Given the description of an element on the screen output the (x, y) to click on. 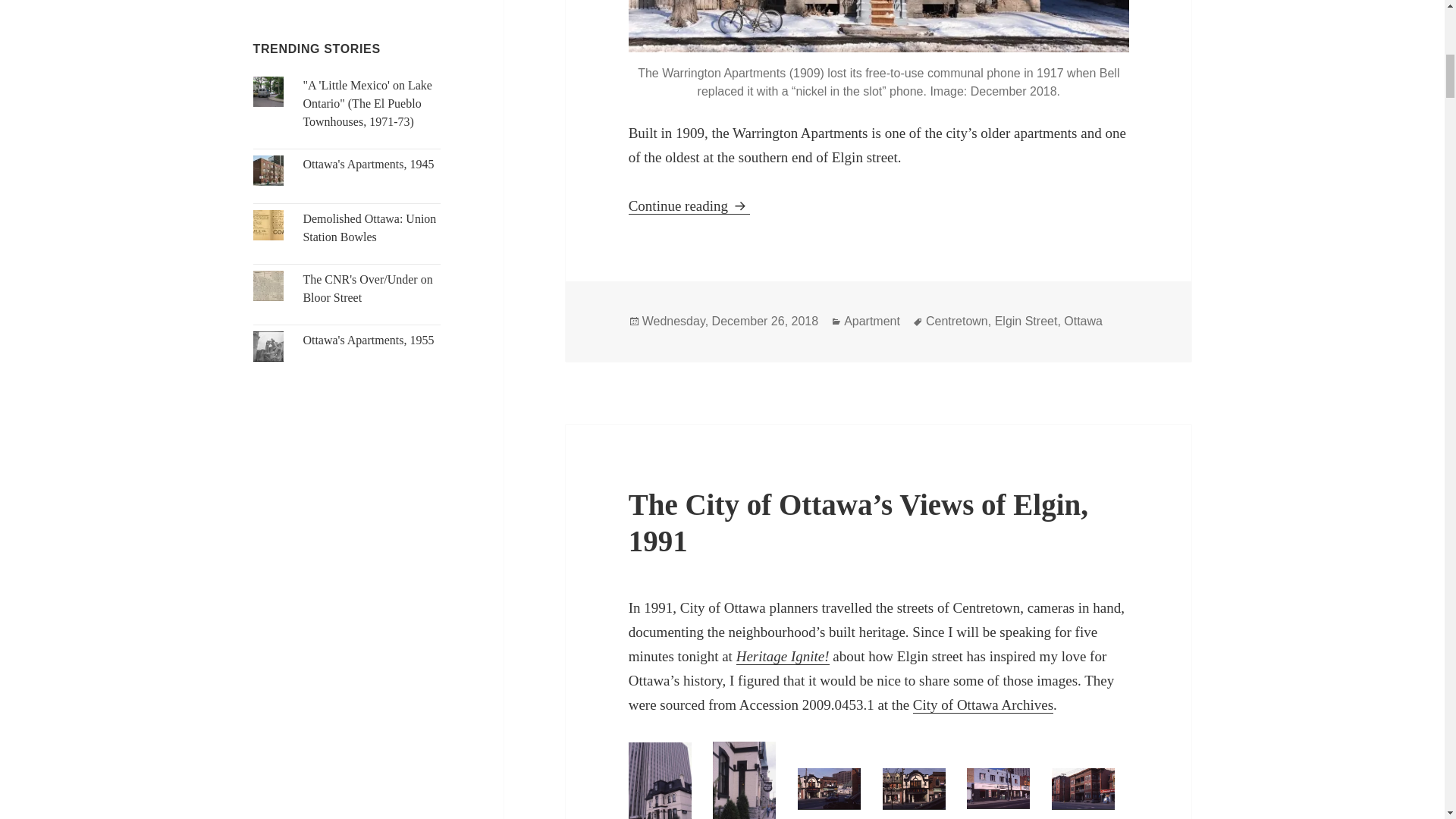
Ottawa's Apartments, 1945 (367, 164)
Ottawa's Apartments, 1945 (367, 164)
Demolished Ottawa: Union Station Bowles (368, 227)
Ottawa's Apartments, 1955 (367, 339)
Demolished Ottawa: Union Station Bowles (368, 227)
